Given the description of an element on the screen output the (x, y) to click on. 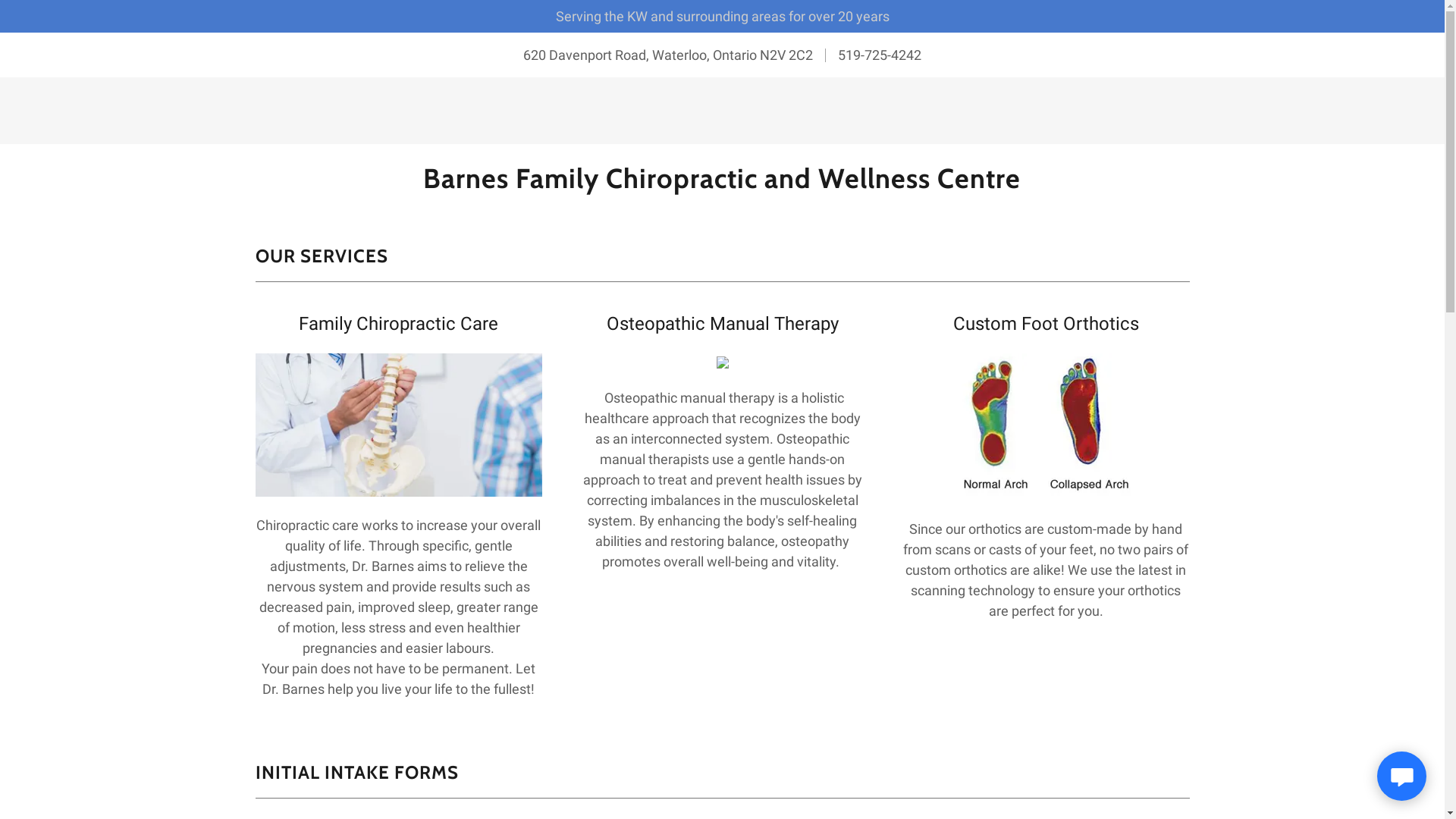
519-725-4242 Element type: text (879, 54)
Barnes Family Chiropractic and Wellness Centre Element type: text (722, 183)
